Given the description of an element on the screen output the (x, y) to click on. 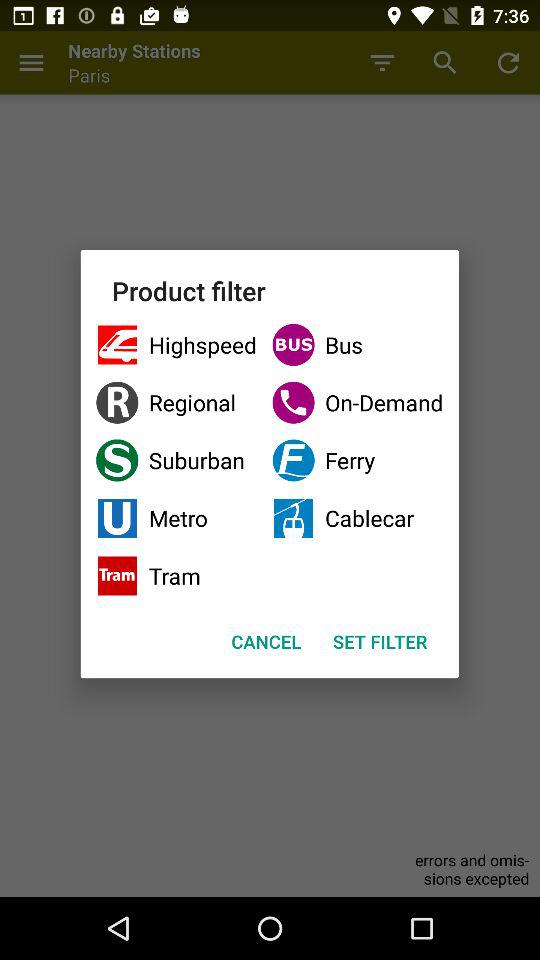
click the icon below highspeed item (176, 402)
